Given the description of an element on the screen output the (x, y) to click on. 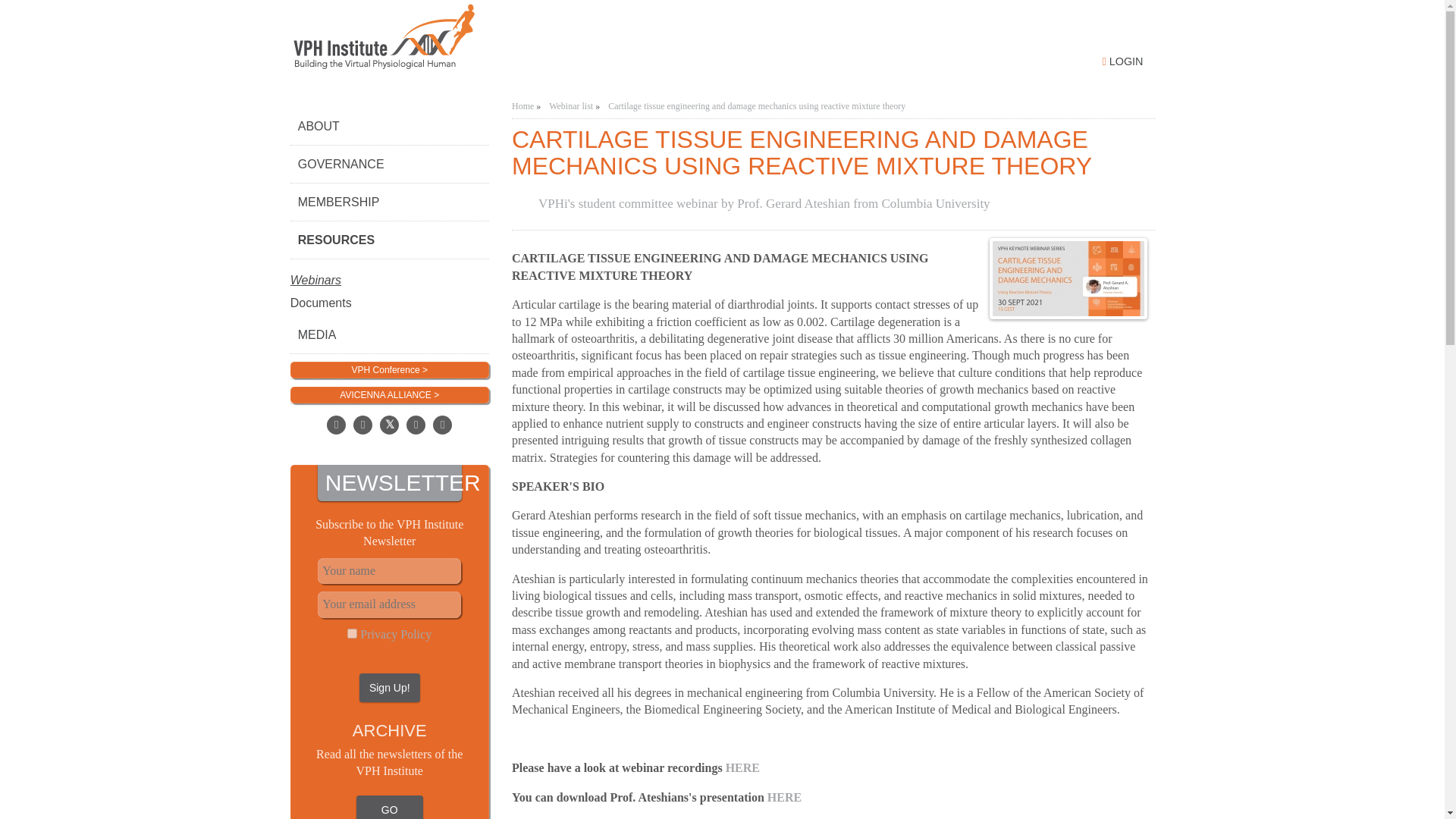
GOVERNANCE (389, 164)
HERE (742, 767)
Webinars (389, 270)
Webinars of VPH Institute (389, 270)
HERE (784, 797)
VPH Istitute (499, 38)
LOGIN (1122, 60)
MEDIA (389, 334)
Sign Up! (389, 687)
ABOUT (389, 126)
